Given the description of an element on the screen output the (x, y) to click on. 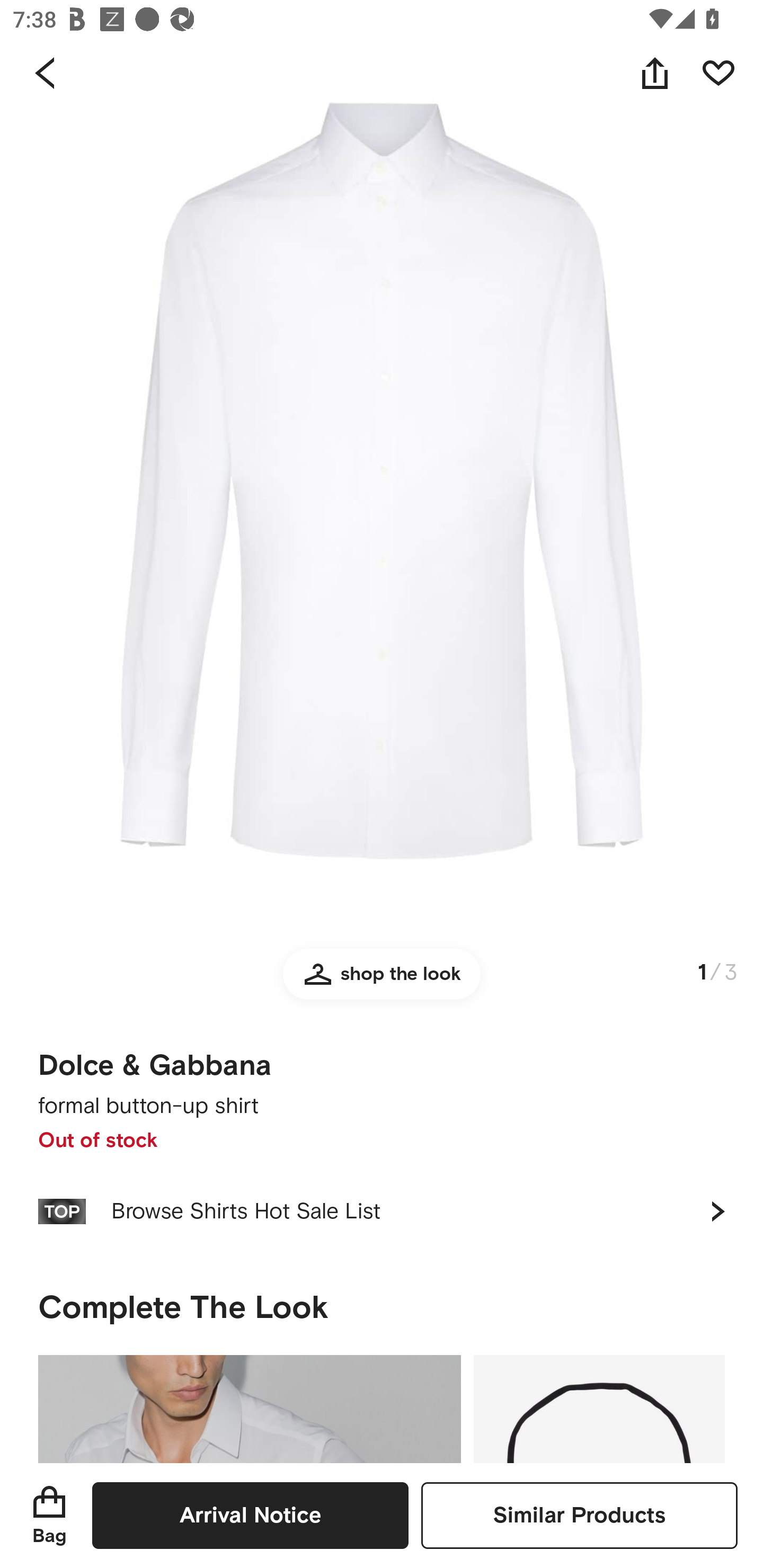
shop the look (381, 982)
Dolce & Gabbana (155, 1065)
Browse Shirts Hot Sale List (381, 1210)
Bag (49, 1515)
Arrival Notice (250, 1515)
Similar Products (579, 1515)
